Given the description of an element on the screen output the (x, y) to click on. 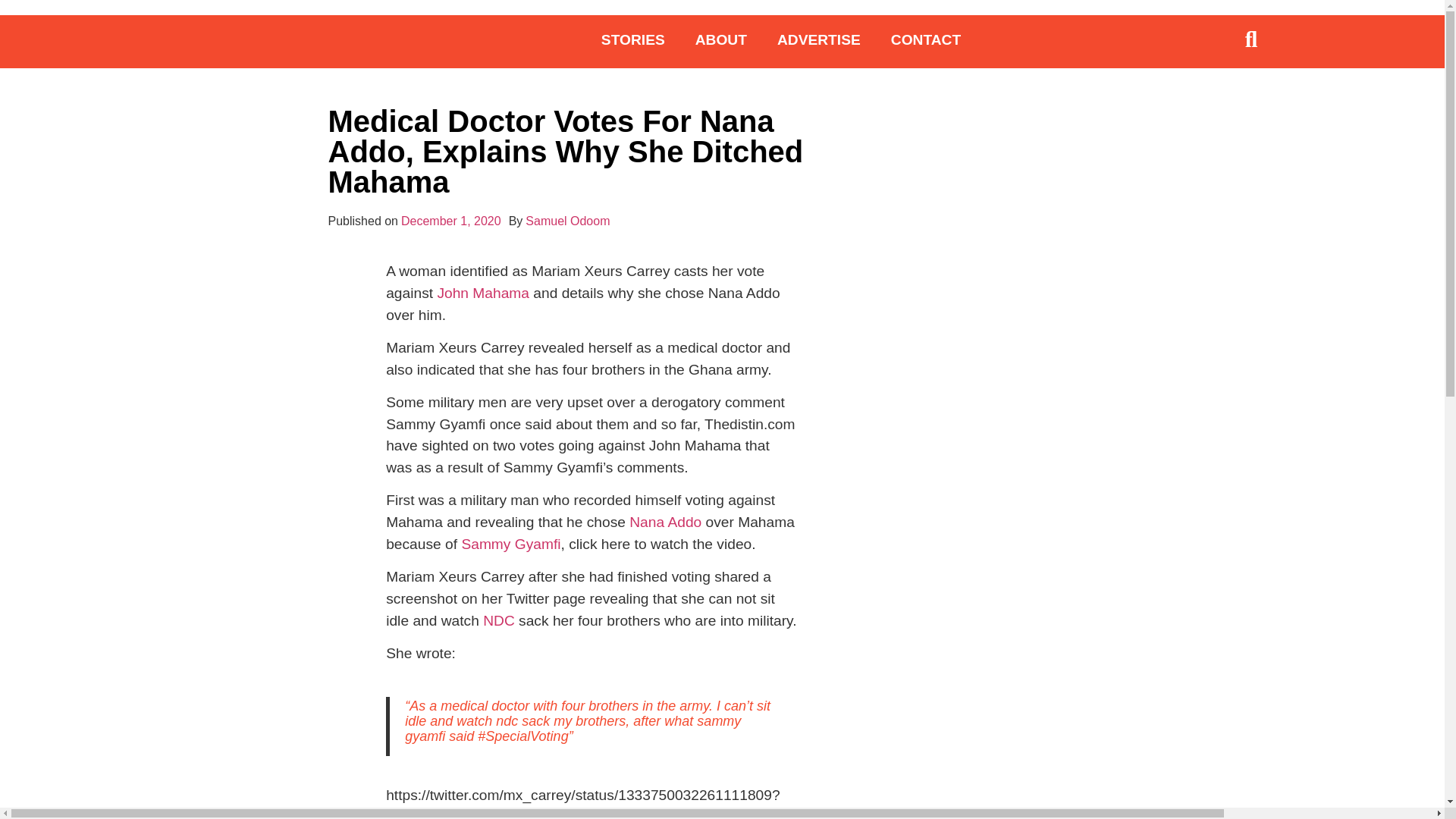
ABOUT (720, 39)
CONTACT (925, 39)
NDC (499, 620)
STORIES (632, 39)
Sammy Gyamfi (510, 544)
Samuel Odoom (567, 221)
December 1, 2020 (450, 221)
Nana Addo (664, 521)
John Mahama (482, 293)
ADVERTISE (818, 39)
